Given the description of an element on the screen output the (x, y) to click on. 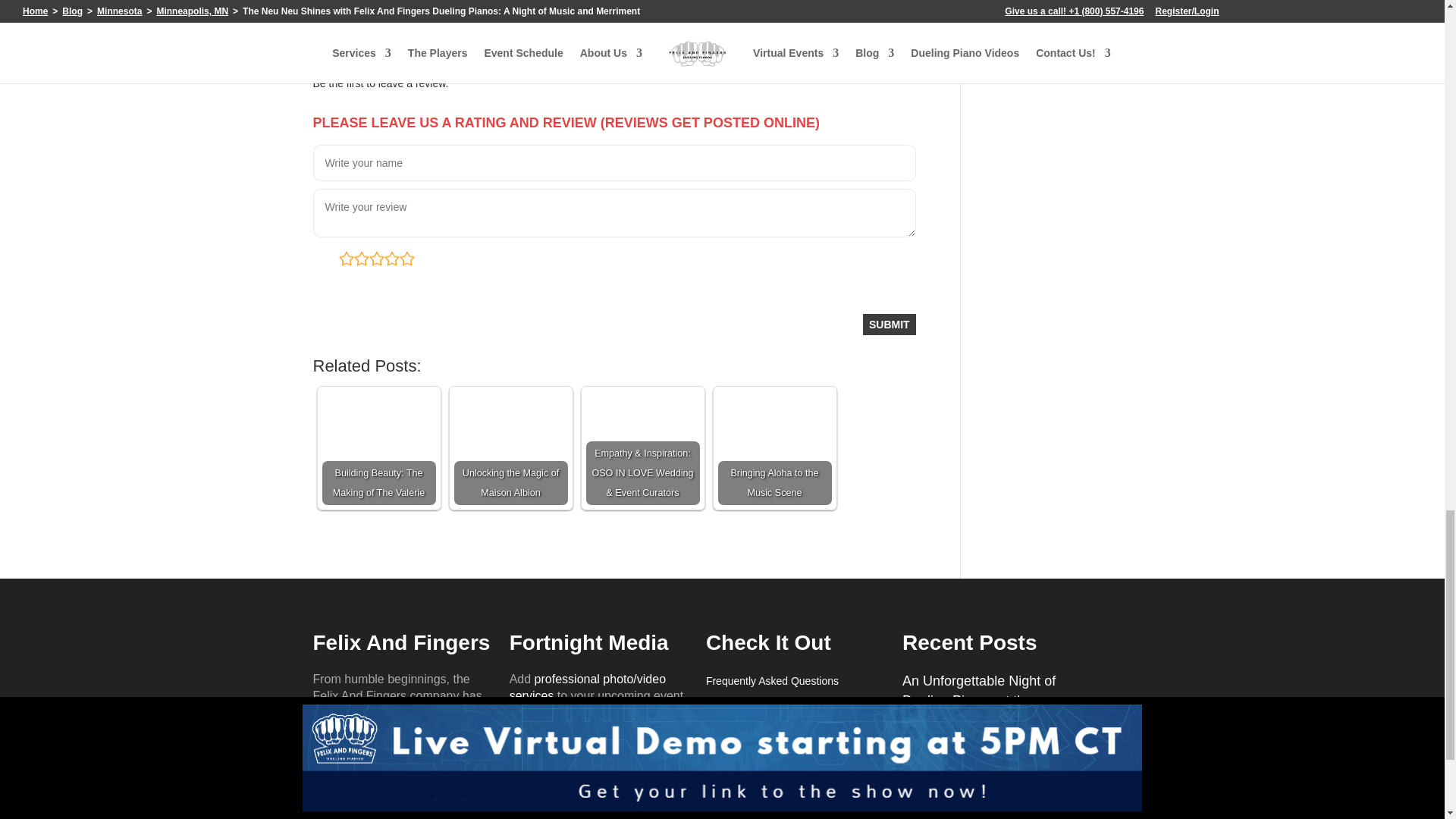
Bringing Aloha to the Music Scene (774, 448)
Submit (889, 323)
Building Beauty: The Making of The Valerie (378, 448)
Unlocking the Magic of Maison Albion (509, 448)
